Given the description of an element on the screen output the (x, y) to click on. 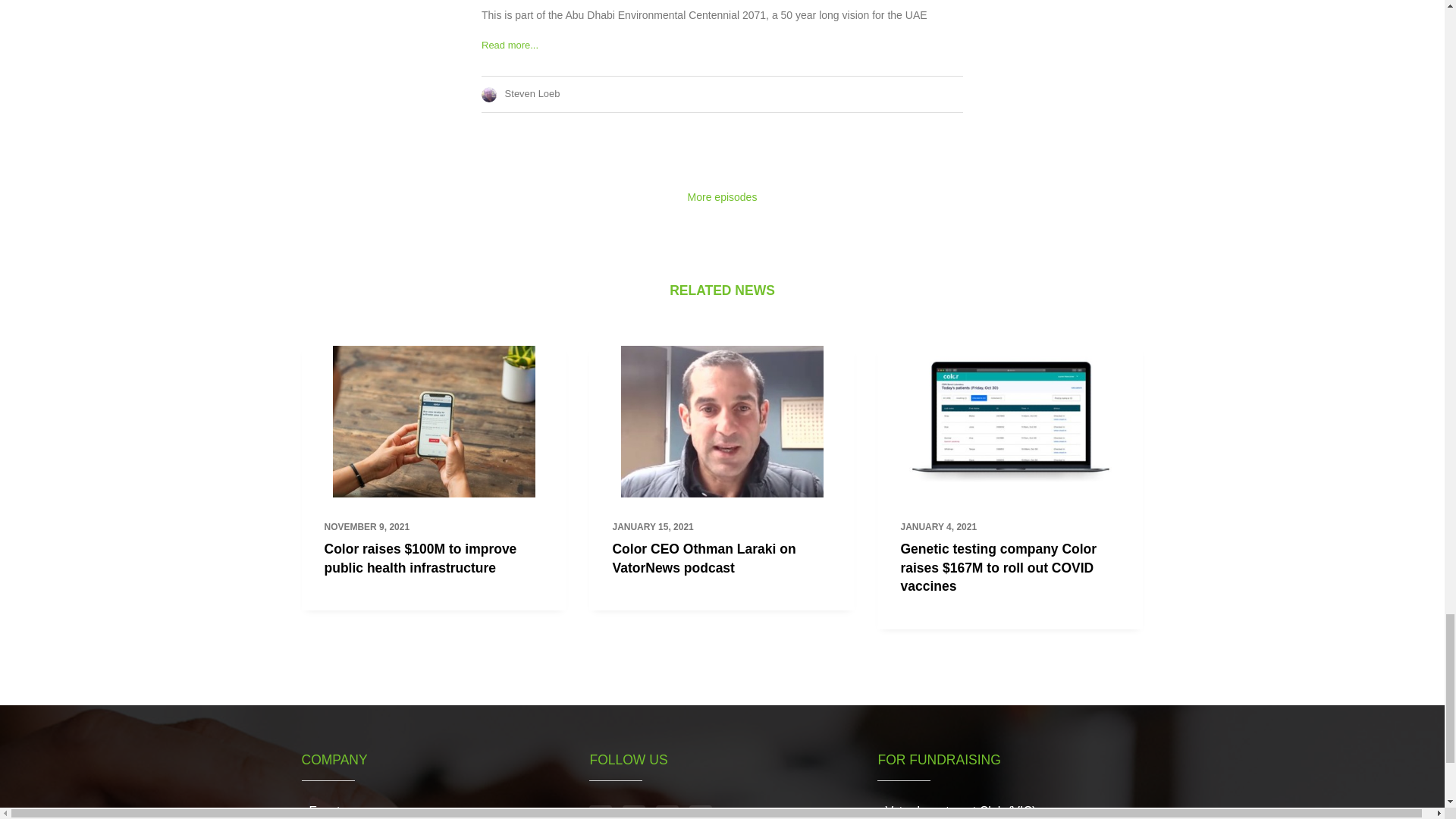
More episodes (722, 196)
Read more... (509, 44)
